Given the description of an element on the screen output the (x, y) to click on. 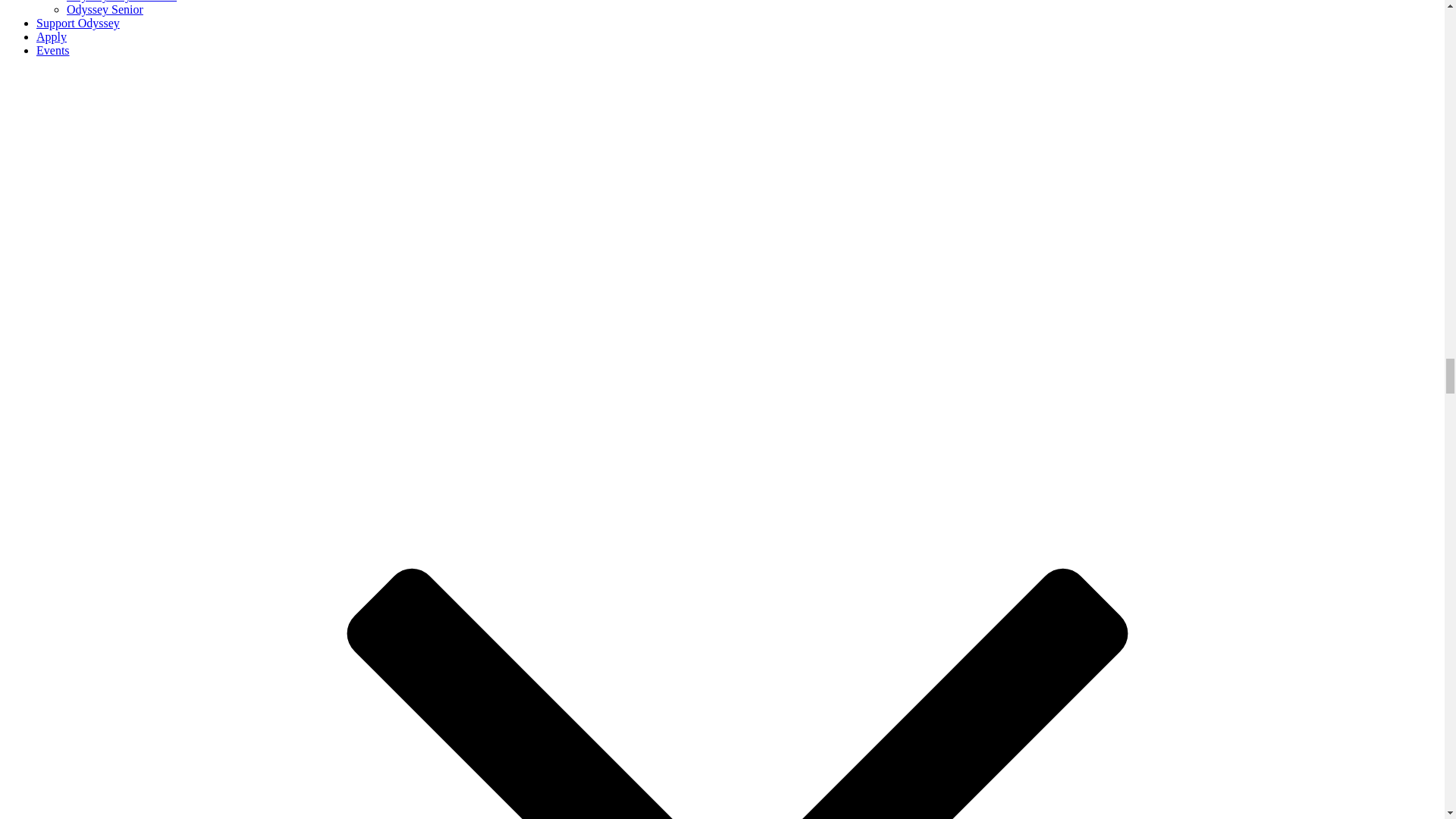
Support Odyssey (77, 22)
Odyssey Beyond Wars (121, 1)
Apply (51, 36)
Odyssey Senior (104, 9)
